Given the description of an element on the screen output the (x, y) to click on. 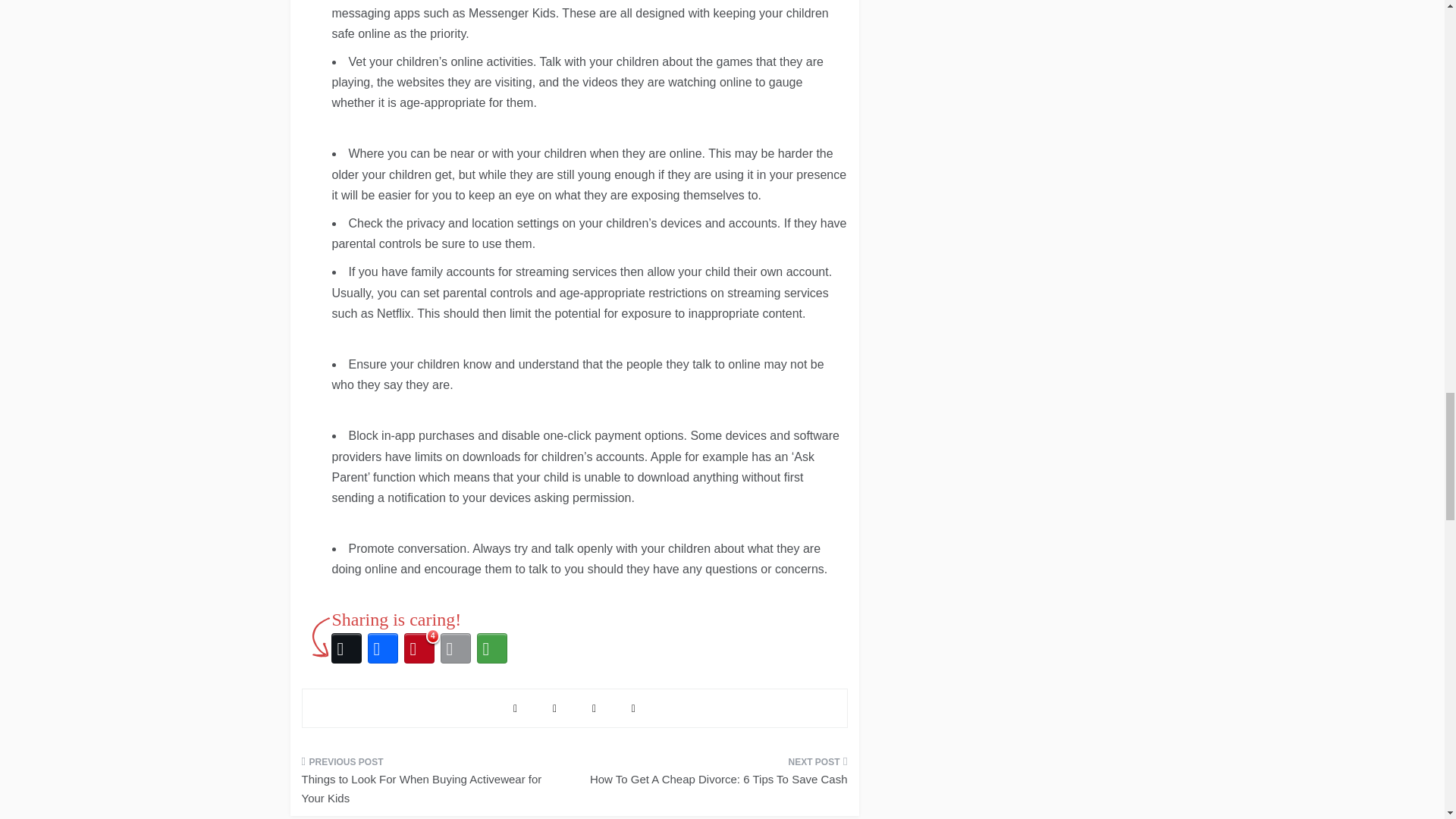
Pinterest (418, 647)
Email This (454, 647)
Facebook (382, 647)
More Options (491, 647)
